Given the description of an element on the screen output the (x, y) to click on. 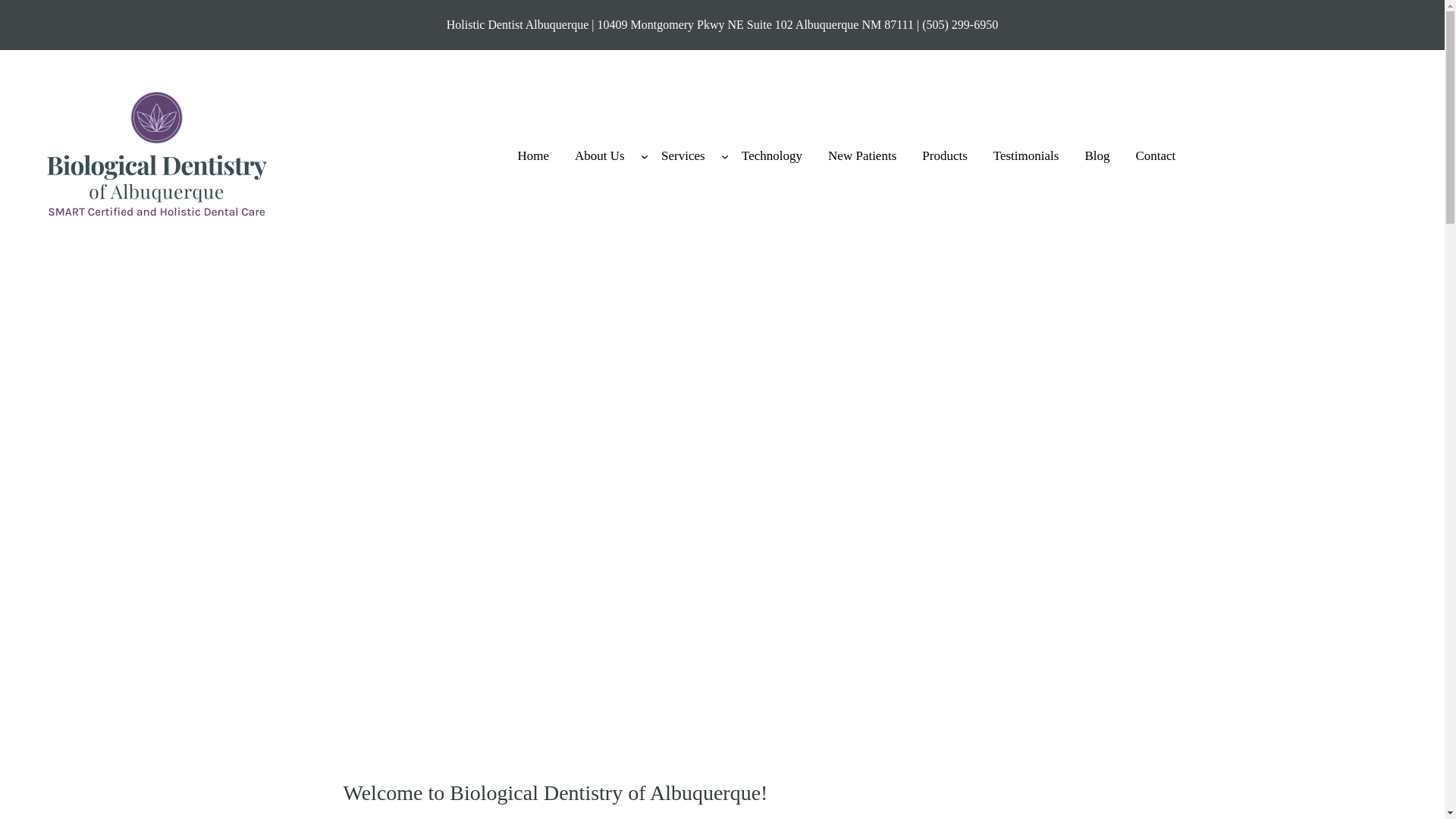
Services (682, 155)
About Us (599, 155)
10409 Montgomery Pkwy NE Suite 102 Albuquerque NM 87111 (755, 24)
Home (532, 155)
